Given the description of an element on the screen output the (x, y) to click on. 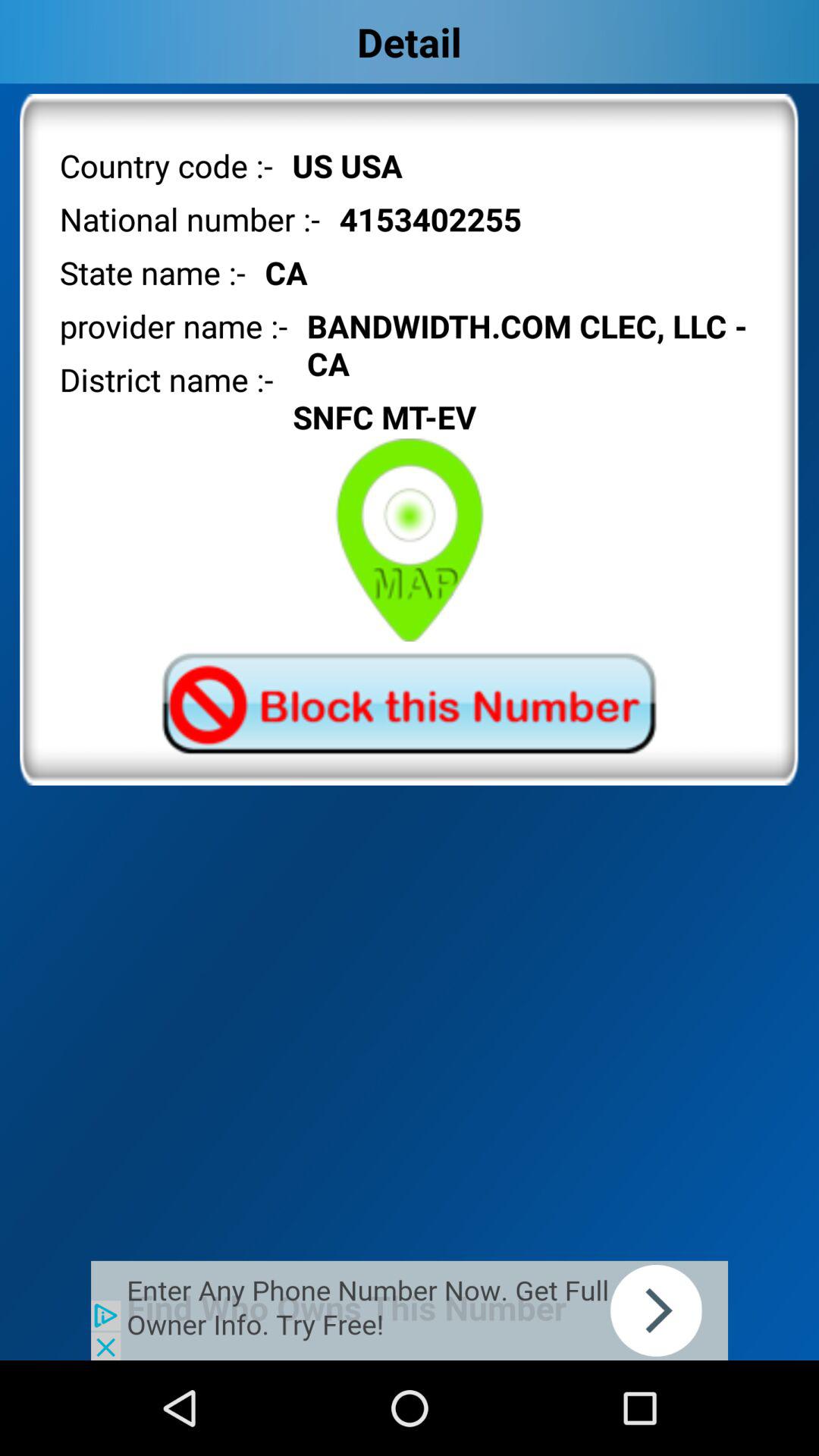
block this number (409, 703)
